Given the description of an element on the screen output the (x, y) to click on. 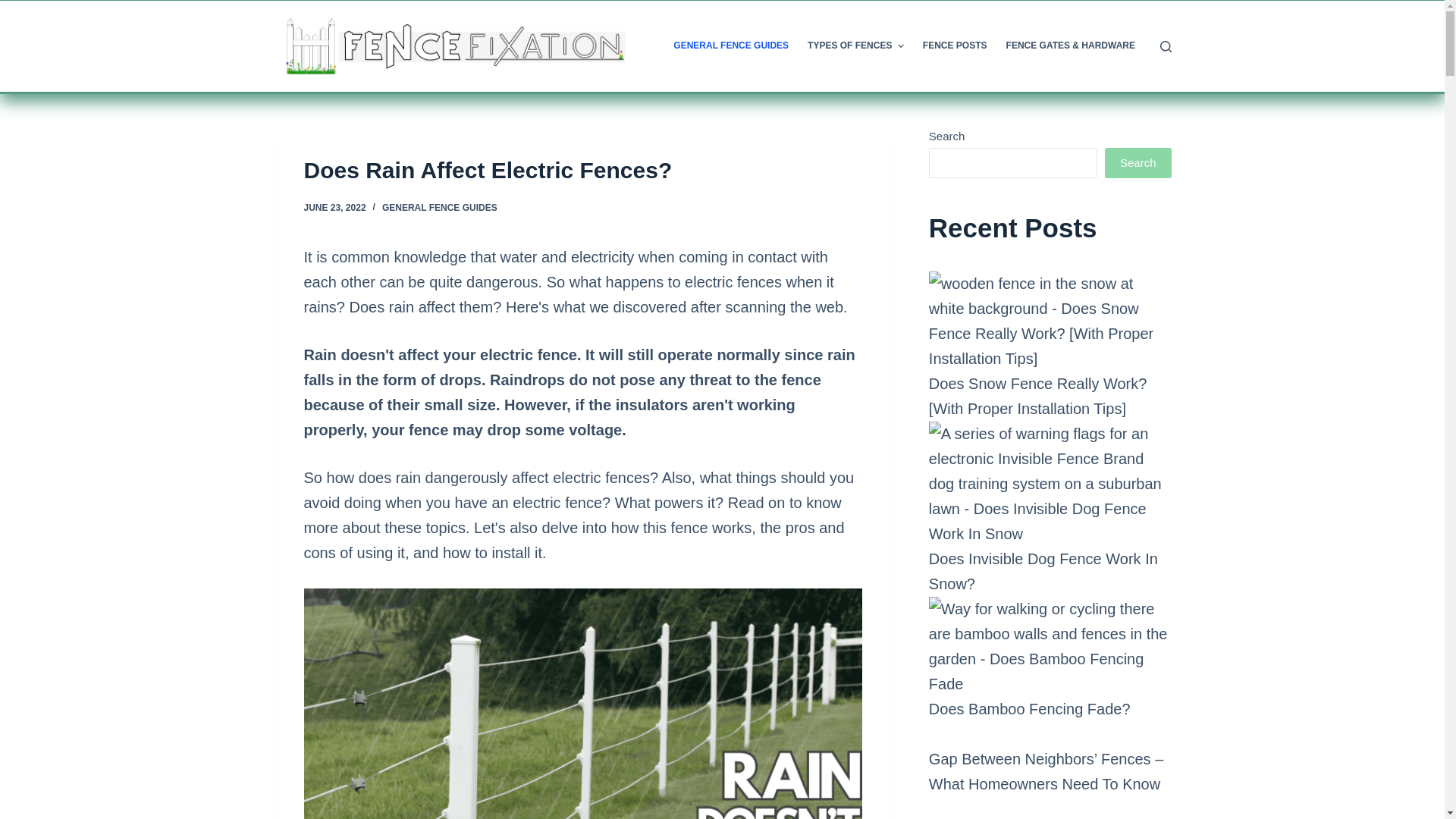
Does Rain Affect Electric Fences? (581, 170)
Skip to content (15, 7)
TYPES OF FENCES (855, 45)
GENERAL FENCE GUIDES (730, 45)
Search (1138, 163)
GENERAL FENCE GUIDES (439, 207)
FENCE POSTS (953, 45)
